Given the description of an element on the screen output the (x, y) to click on. 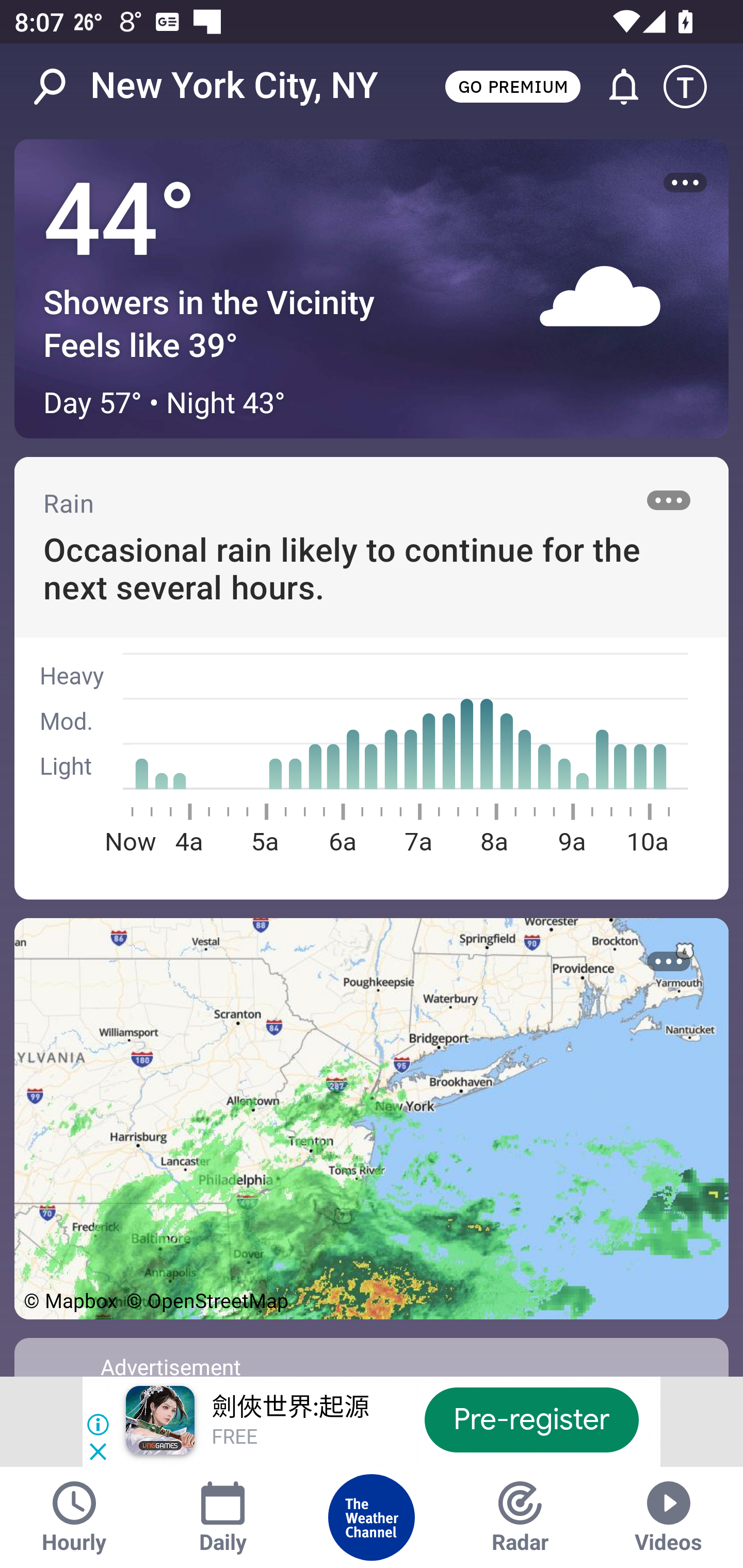
Search (59, 86)
Go to Alerts and Notifications (614, 86)
Setting icon T (694, 86)
New York City, NY (234, 85)
GO PREMIUM (512, 85)
More options (684, 182)
More options (668, 500)
See Map Details (371, 1118)
More options (668, 961)
Pre-register (530, 1419)
劍俠世界:起源 (289, 1407)
FREE (234, 1437)
Hourly Tab Hourly (74, 1517)
Daily Tab Daily (222, 1517)
Radar Tab Radar (519, 1517)
Videos Tab Videos (668, 1517)
